Given the description of an element on the screen output the (x, y) to click on. 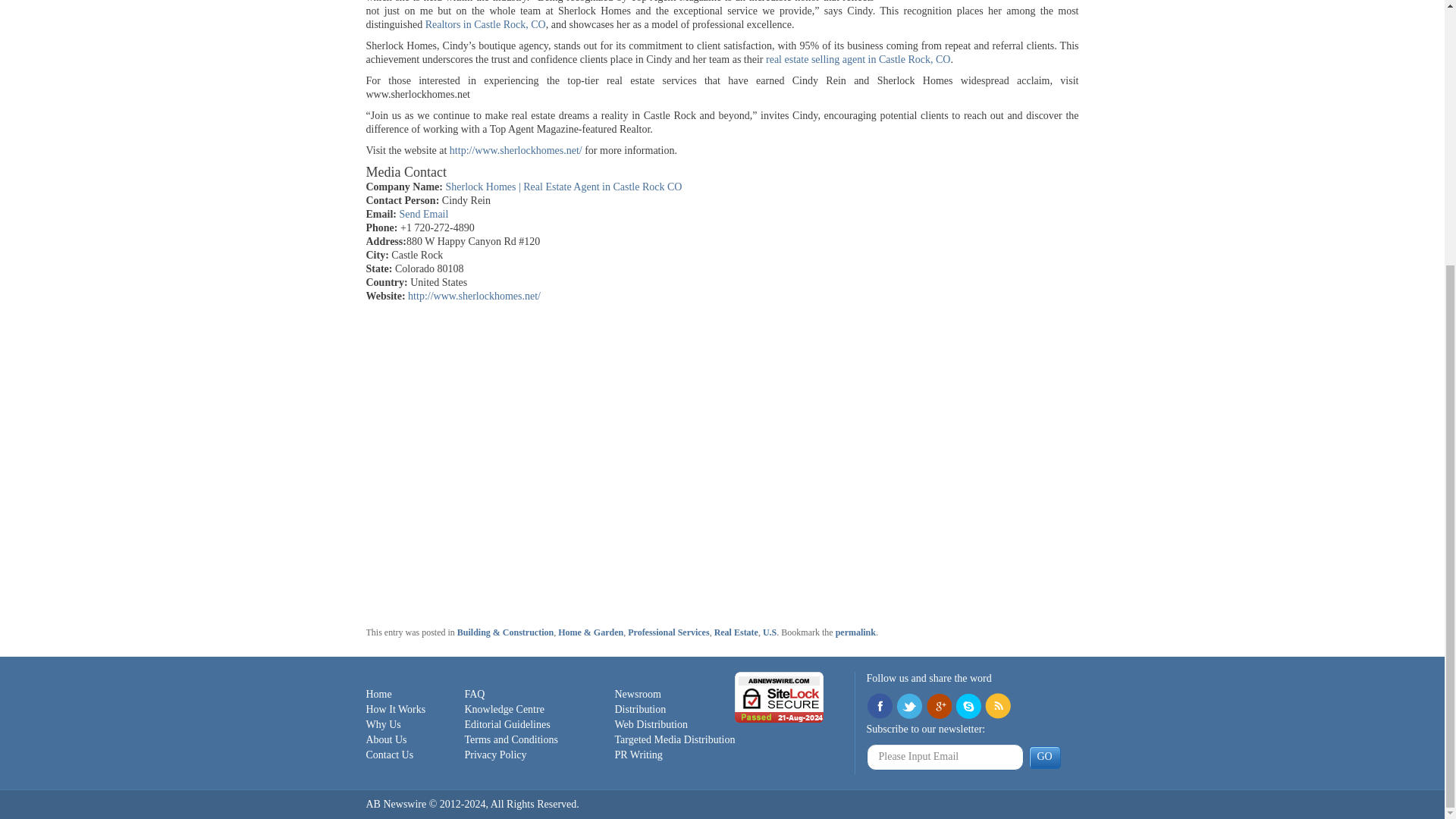
Please Input Email (944, 756)
SiteLock (779, 696)
GO (1043, 757)
